Given the description of an element on the screen output the (x, y) to click on. 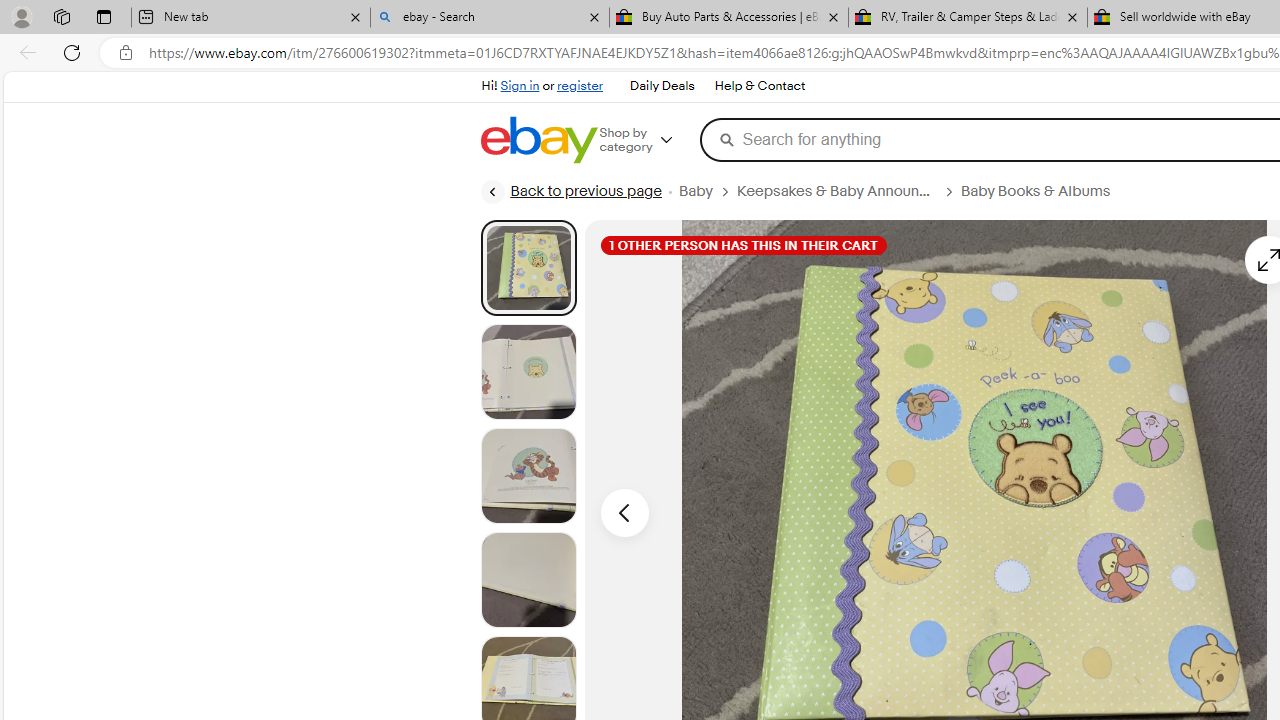
Help & Contact (758, 85)
Help & Contact (760, 86)
Baby Books & Albums (1035, 191)
Back to previous page (570, 191)
eBay Home (538, 139)
Picture 4 of 22 (528, 579)
Previous image - Item images thumbnails (624, 512)
Keepsakes & Baby Announcements (836, 191)
register (579, 85)
Picture 1 of 22 (528, 268)
